Given the description of an element on the screen output the (x, y) to click on. 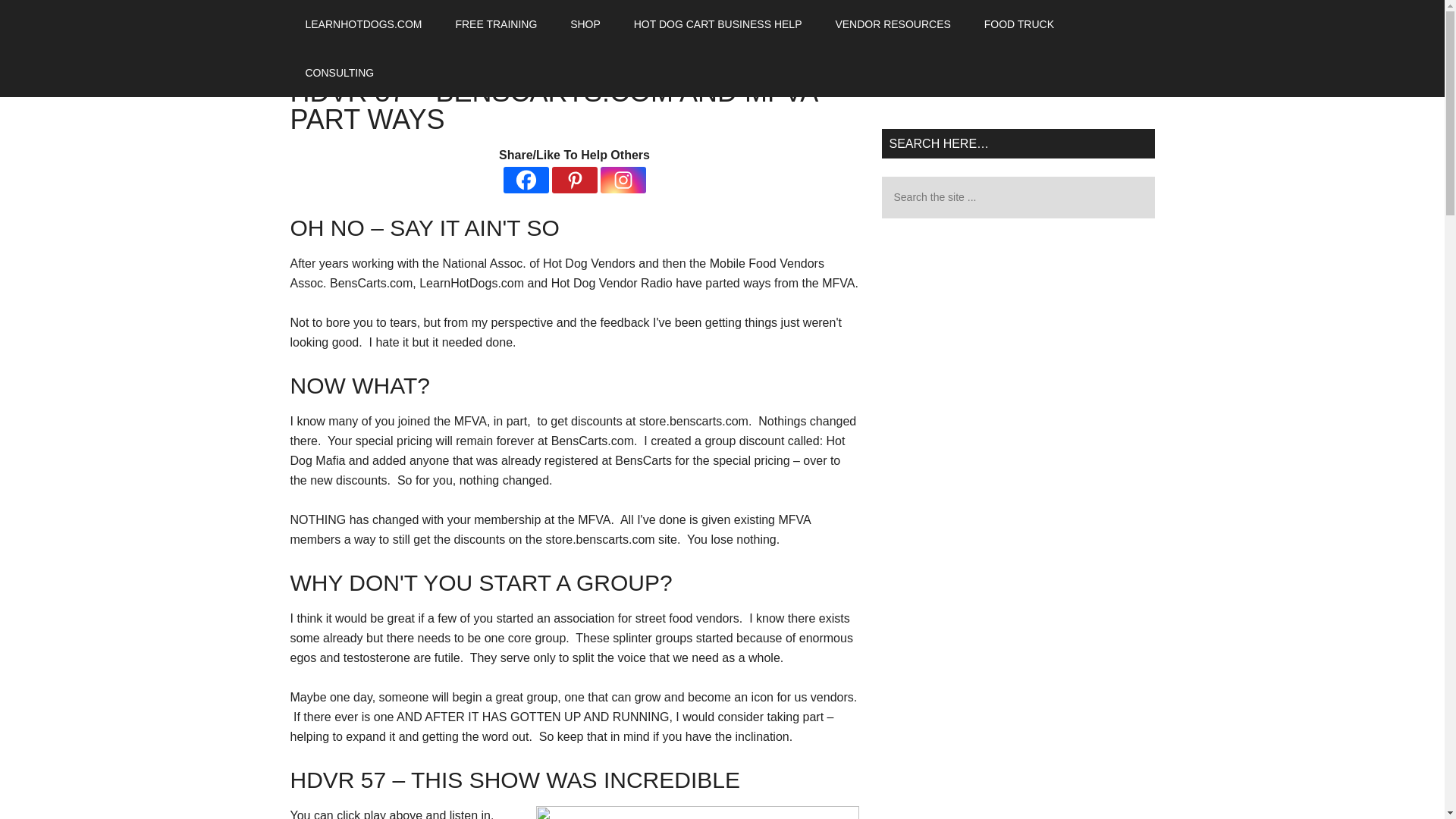
CONSULTING (338, 72)
FREE TRAINING (495, 24)
FOOD TRUCK (1018, 24)
SHOP (584, 24)
Pinterest (573, 180)
Facebook (525, 180)
LEARNHOTDOGS.COM (362, 24)
Instagram (622, 180)
